Given the description of an element on the screen output the (x, y) to click on. 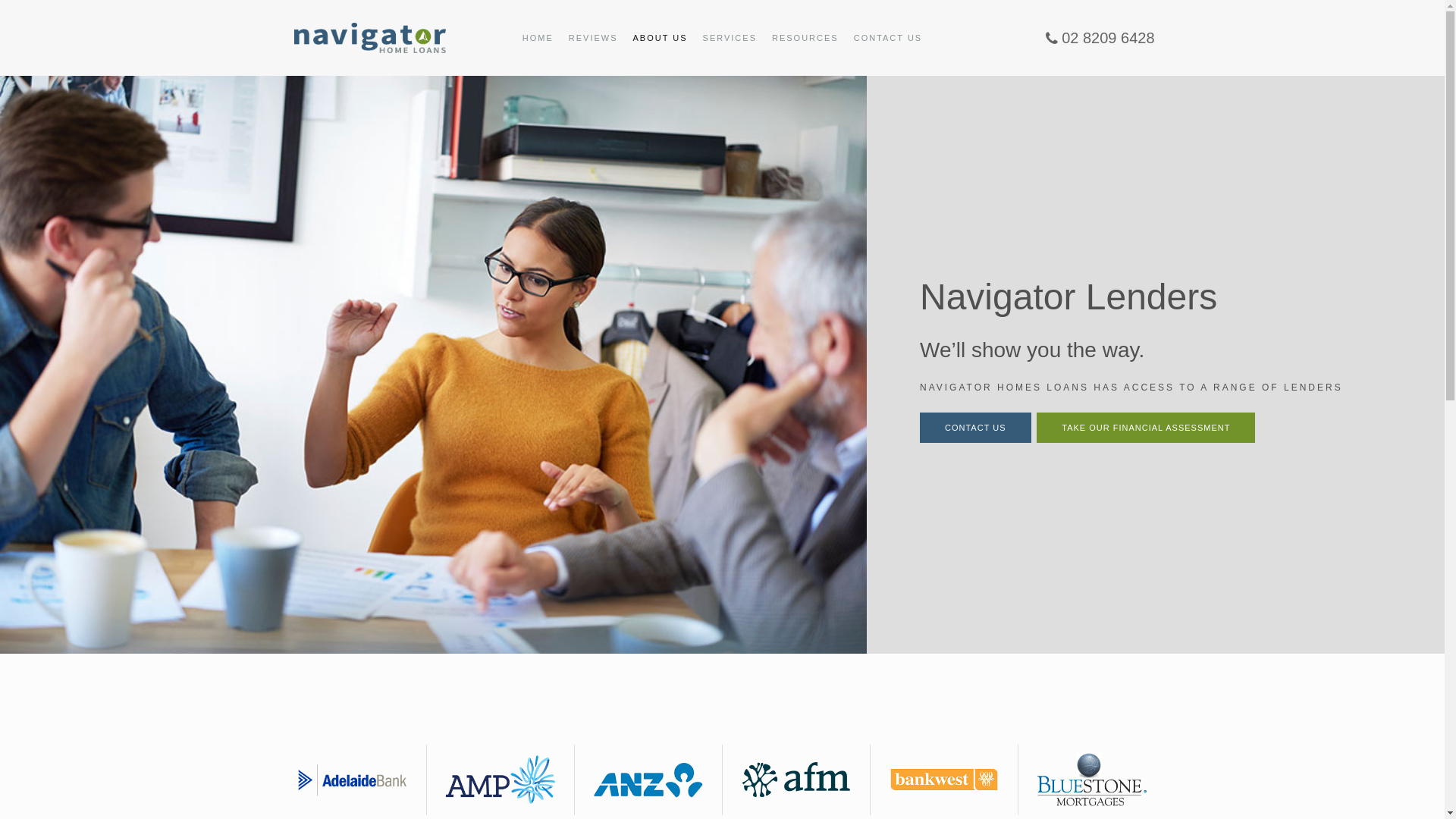
CONTACT US Element type: text (975, 427)
ABOUT US Element type: text (660, 37)
CONTACT US Element type: text (888, 37)
  02 8209 6428 Element type: text (1099, 36)
SERVICES Element type: text (729, 37)
TAKE OUR FINANCIAL ASSESSMENT Element type: text (1145, 427)
REVIEWS Element type: text (593, 37)
HOME Element type: text (537, 37)
RESOURCES Element type: text (805, 37)
